Given the description of an element on the screen output the (x, y) to click on. 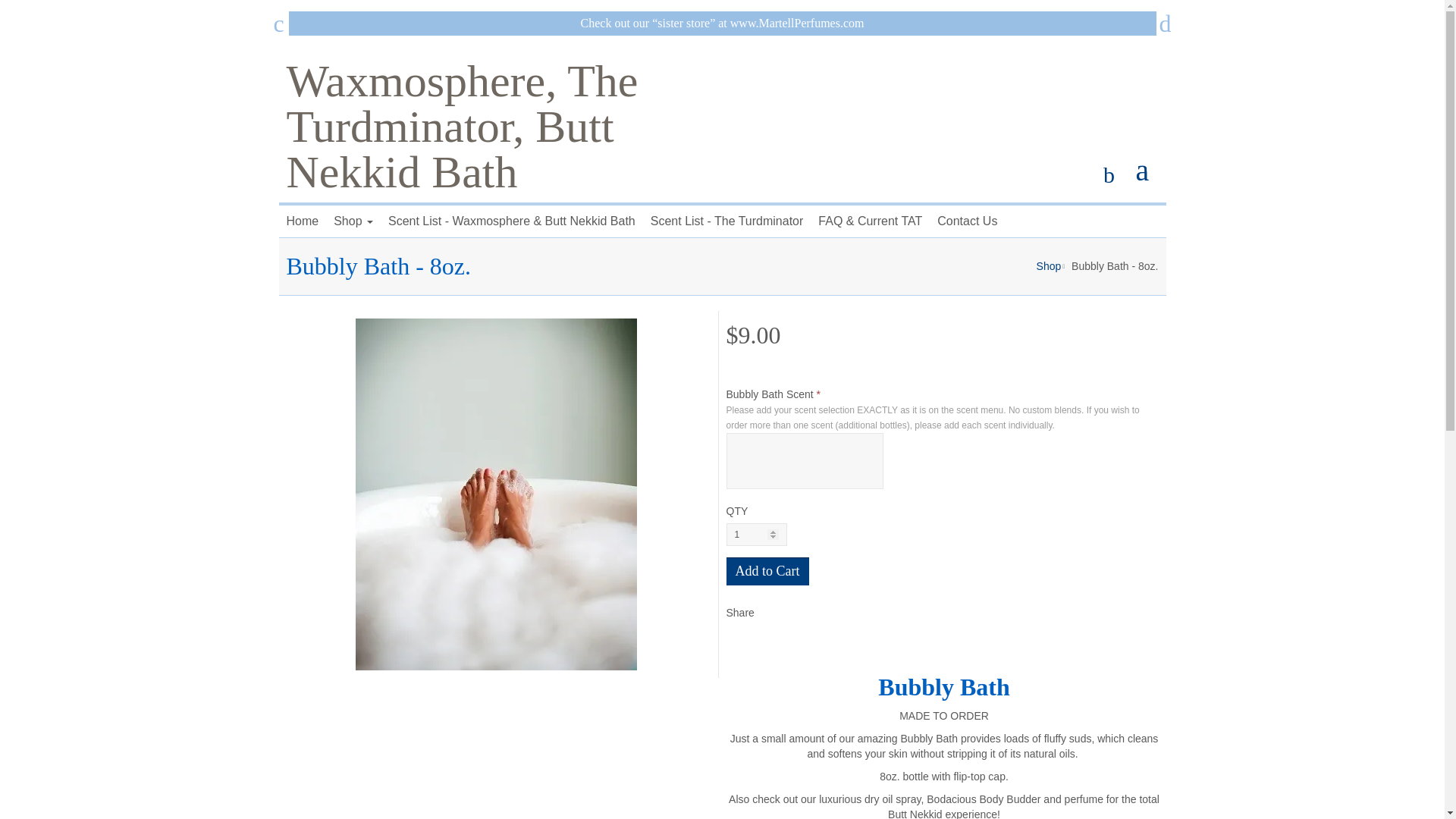
Shop (1048, 265)
Contact Us (967, 221)
Add to Cart (767, 571)
Add to Cart (767, 571)
Scent List - The Turdminator (726, 221)
Waxmosphere, The Turdminator, Butt Nekkid Bath (462, 126)
0 (1150, 168)
1 (756, 534)
Shop (353, 221)
Home (302, 221)
